Given the description of an element on the screen output the (x, y) to click on. 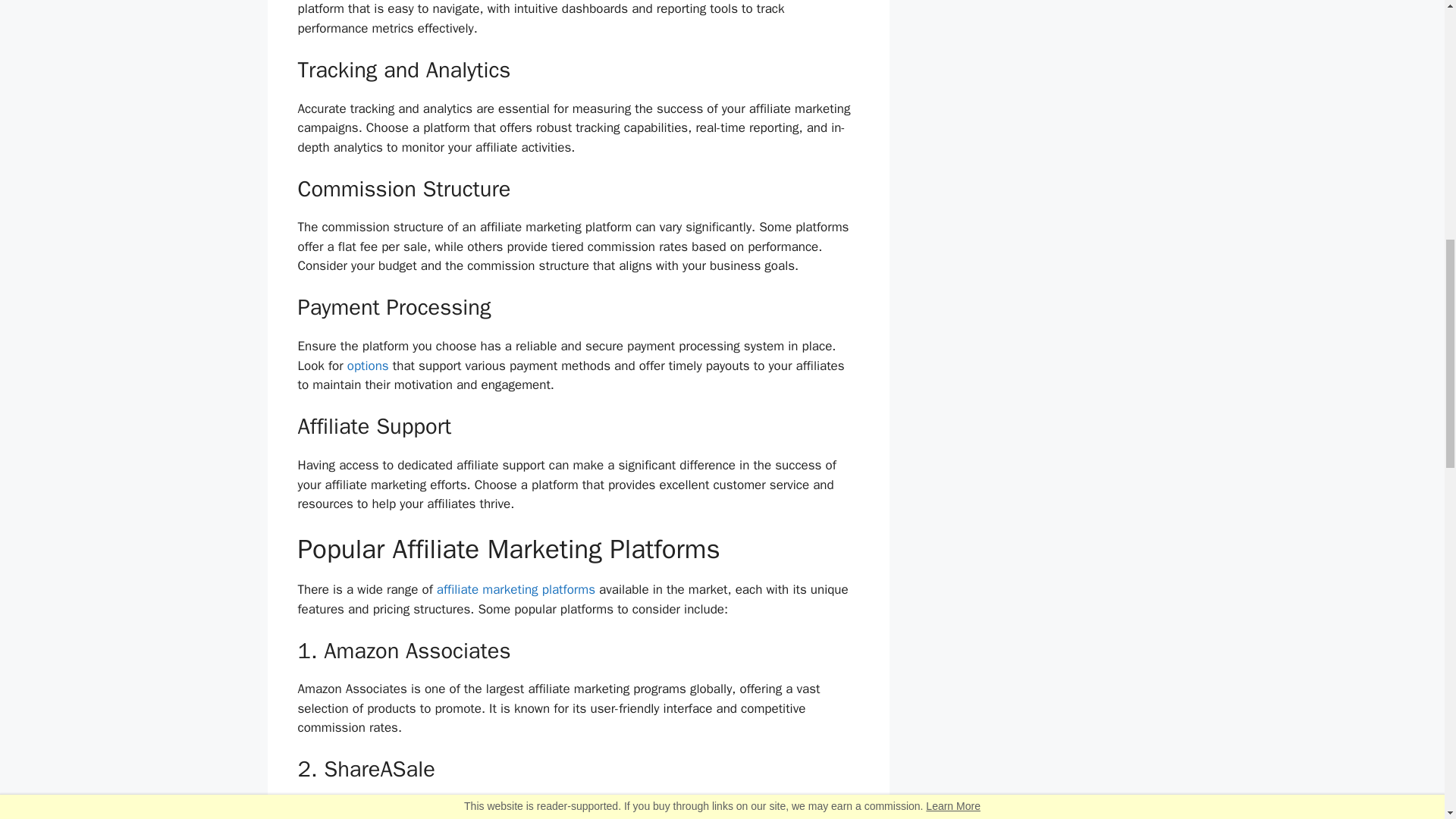
affiliate marketing platforms (515, 589)
options (367, 365)
